Given the description of an element on the screen output the (x, y) to click on. 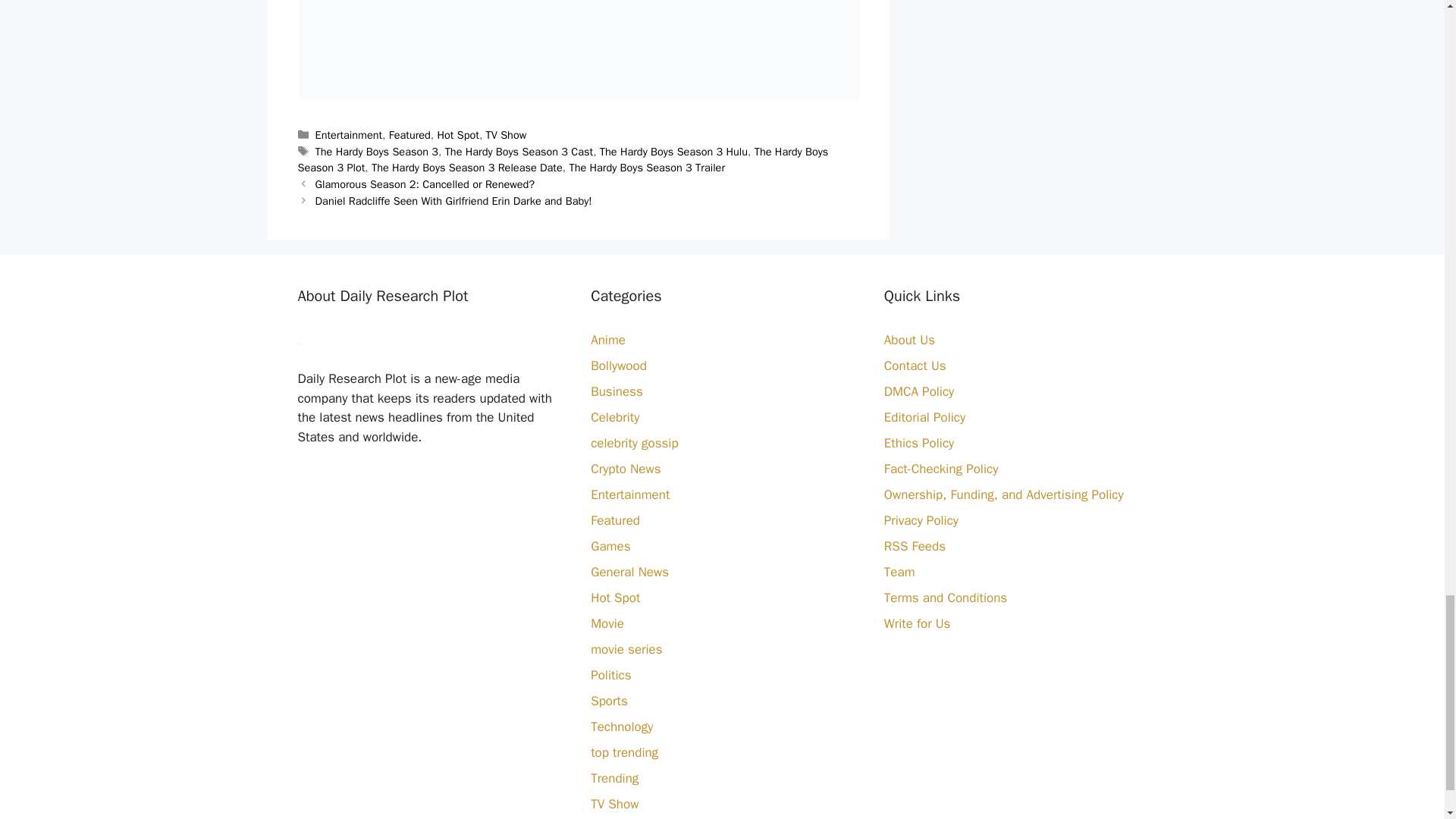
Featured (409, 134)
Hot Spot (458, 134)
The Hardy Boys Season 3 Cast (519, 151)
The Hardy Boys Season 3 Trailer (647, 167)
Entertainment (348, 134)
Daniel Radcliffe Seen With Girlfriend Erin Darke and Baby! (453, 201)
The Hardy Boys Season 3 Release Date (466, 167)
The Hardy Boys Season 3 Hulu (673, 151)
TV Show (506, 134)
The Hardy Boys Season 3 (376, 151)
